Given the description of an element on the screen output the (x, y) to click on. 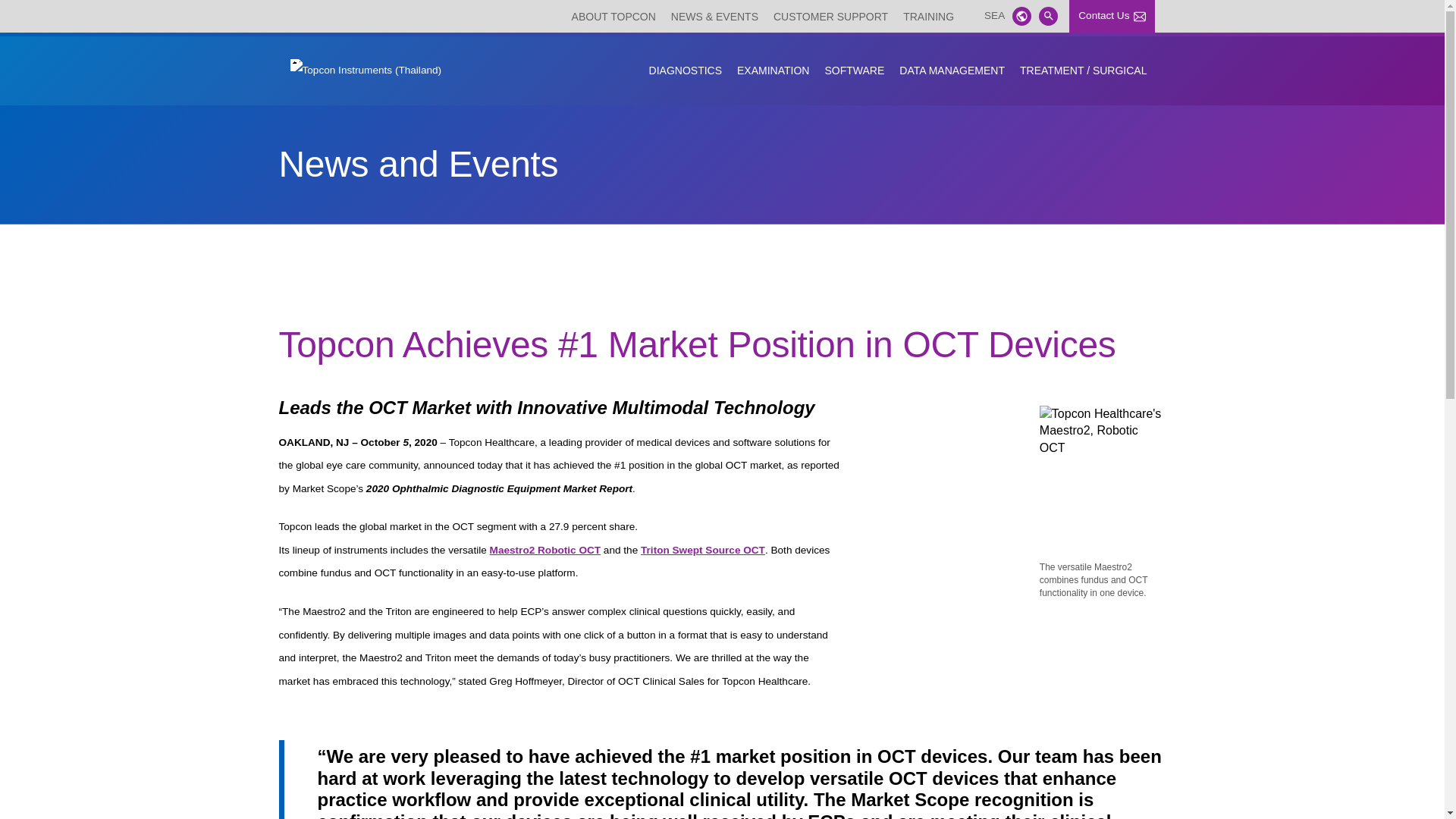
ABOUT TOPCON (613, 15)
DIAGNOSTICS (685, 69)
Global Toggle (1020, 15)
TRAINING (927, 15)
Contact Us (1111, 16)
SEARCH TOGGLE (1048, 15)
CUSTOMER SUPPORT (830, 15)
